Given the description of an element on the screen output the (x, y) to click on. 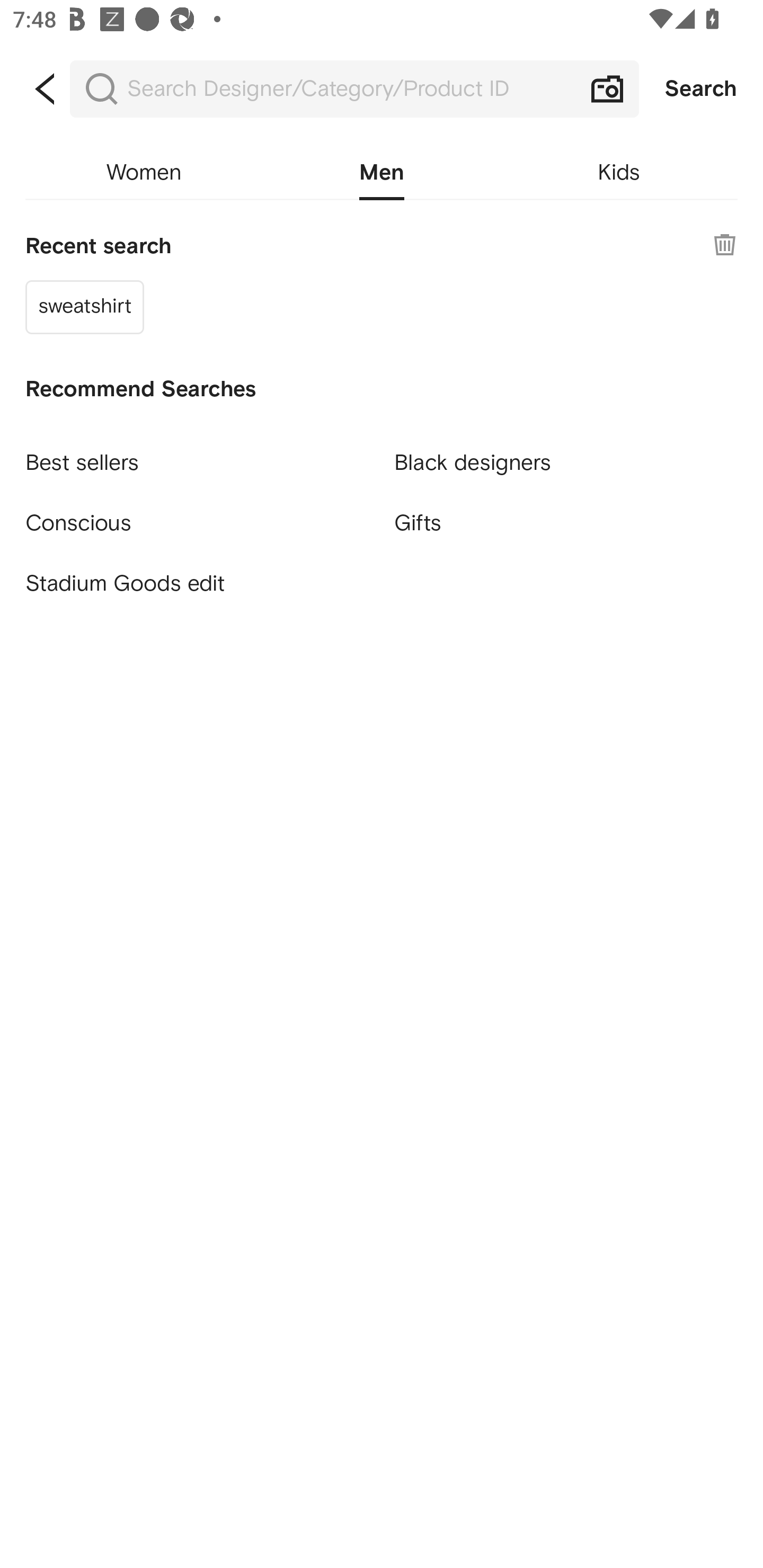
Search (701, 89)
Women (143, 172)
Kids (618, 172)
sweatshirt (84, 306)
Best sellers (196, 454)
Black designers (565, 454)
Conscious (196, 514)
Gifts (565, 522)
Stadium Goods edit (196, 583)
